Given the description of an element on the screen output the (x, y) to click on. 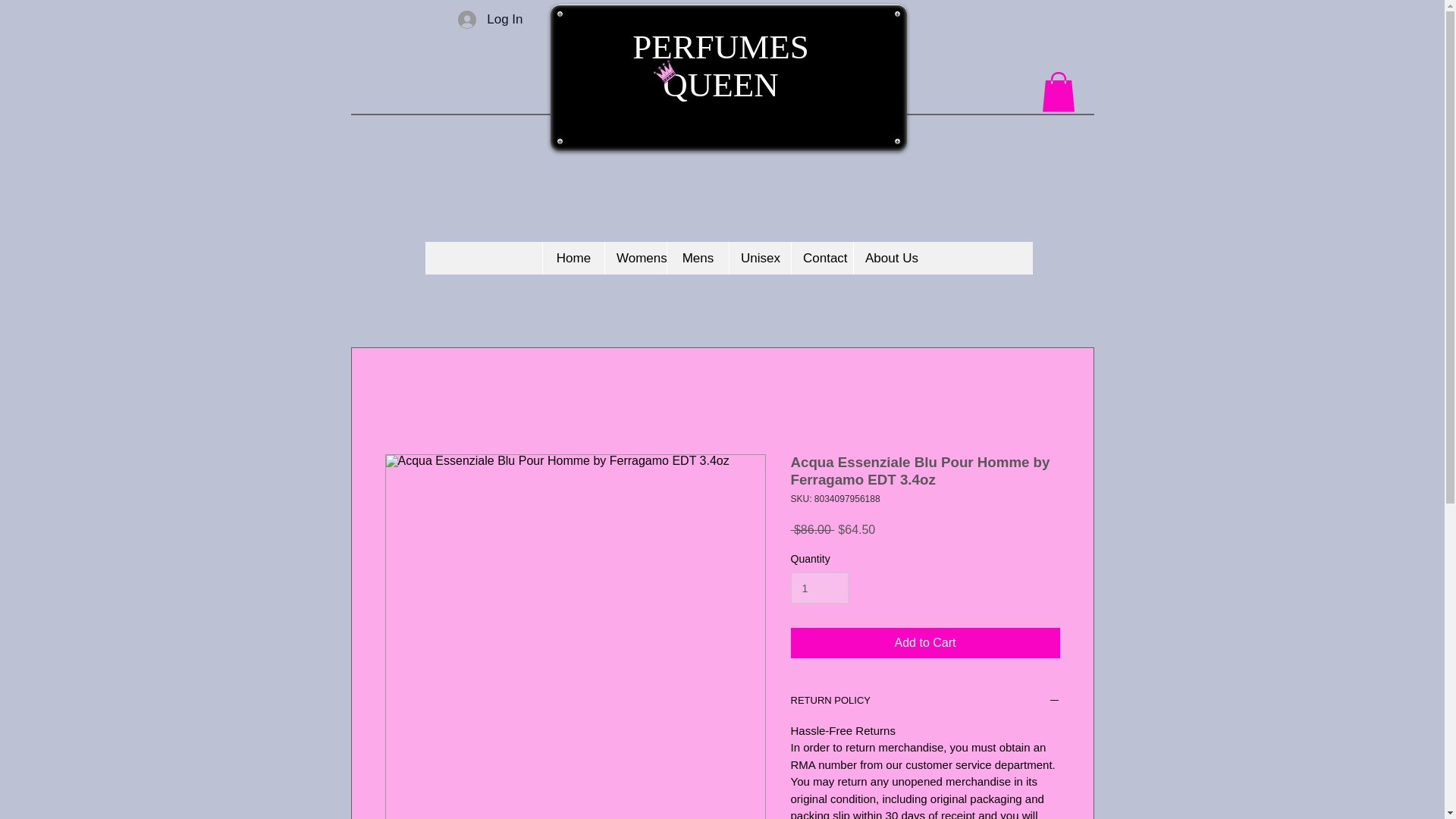
1 (818, 587)
About Us (884, 257)
Womens (635, 257)
Log In (489, 19)
Unisex (759, 257)
Facebook Like (925, 30)
RETURN POLICY (924, 702)
Add to Cart (924, 643)
Contact (821, 257)
Mens (697, 257)
